Given the description of an element on the screen output the (x, y) to click on. 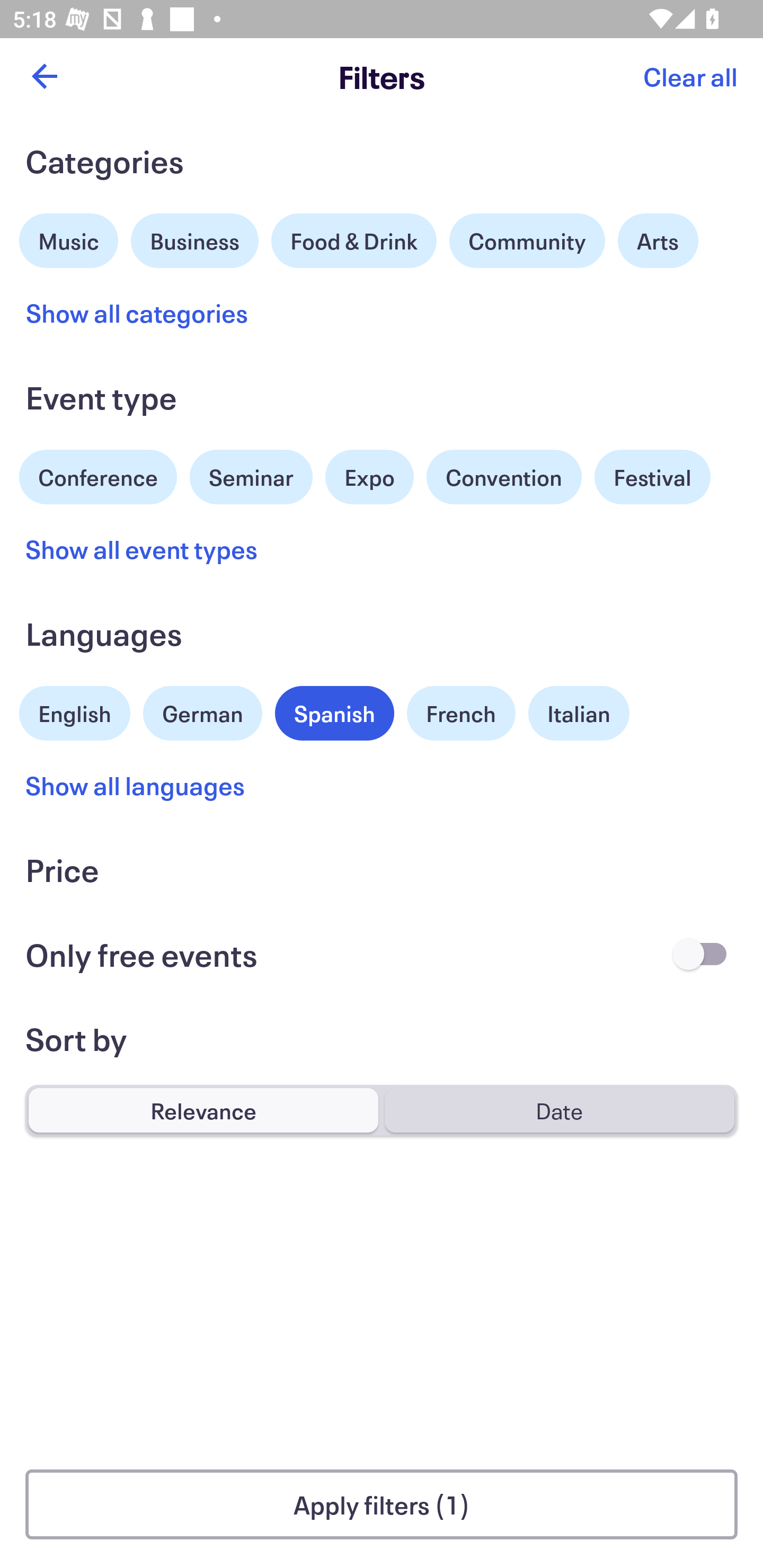
Back button (44, 75)
Clear all (690, 75)
Music (68, 238)
Business (194, 238)
Food & Drink (353, 240)
Community (527, 240)
Arts (658, 240)
Show all categories (136, 312)
Conference (98, 475)
Seminar (250, 477)
Expo (369, 477)
Convention (503, 477)
Festival (652, 477)
Show all event types (141, 548)
English (74, 710)
German (202, 710)
Spanish (334, 713)
French (460, 713)
Italian (578, 713)
Show all languages (135, 784)
Relevance (203, 1109)
Date (559, 1109)
Apply filters (1) (381, 1504)
